Given the description of an element on the screen output the (x, y) to click on. 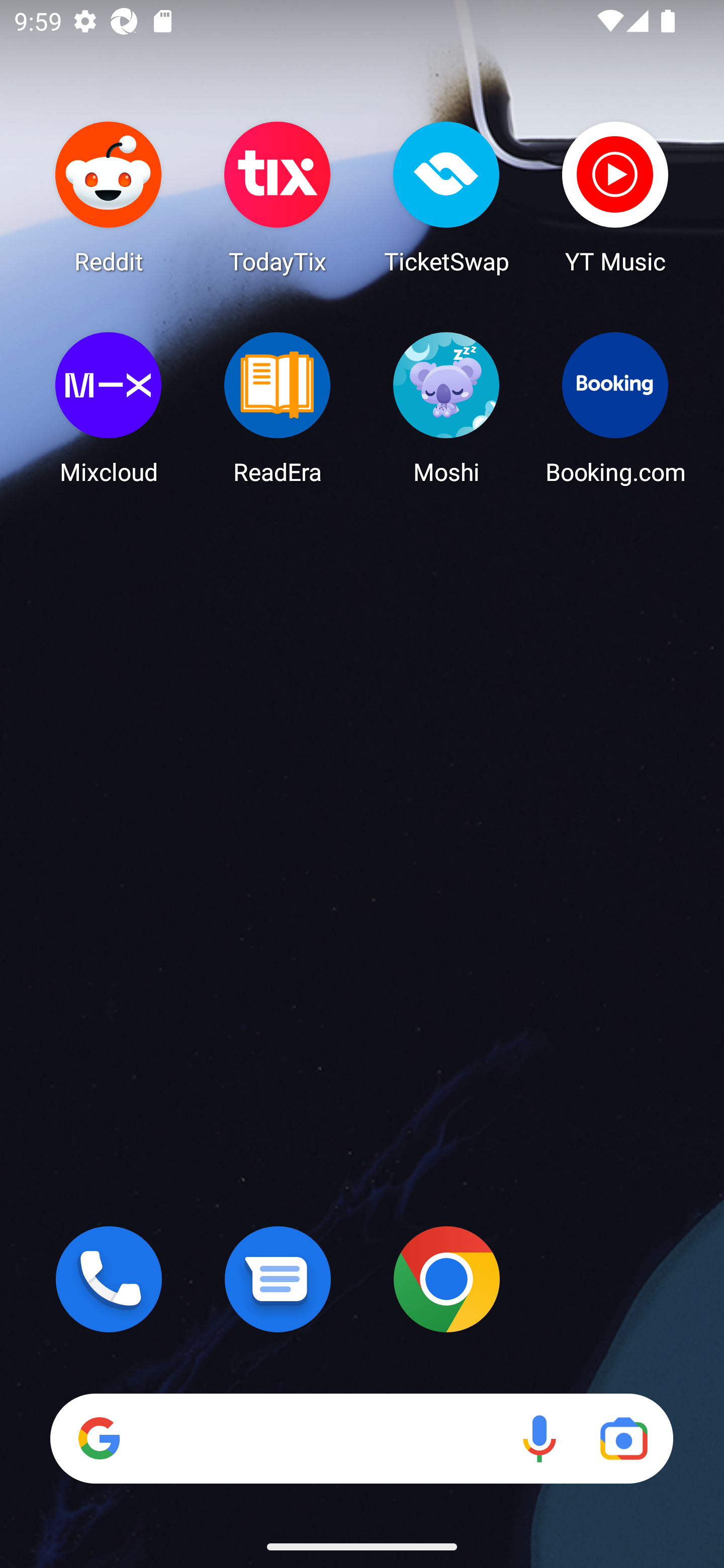
Reddit (108, 196)
TodayTix (277, 196)
TicketSwap (445, 196)
YT Music (615, 196)
Mixcloud (108, 407)
ReadEra (277, 407)
Moshi (445, 407)
Booking.com (615, 407)
Phone (108, 1279)
Messages (277, 1279)
Chrome (446, 1279)
Search Voice search Google Lens (361, 1438)
Voice search (539, 1438)
Google Lens (623, 1438)
